Given the description of an element on the screen output the (x, y) to click on. 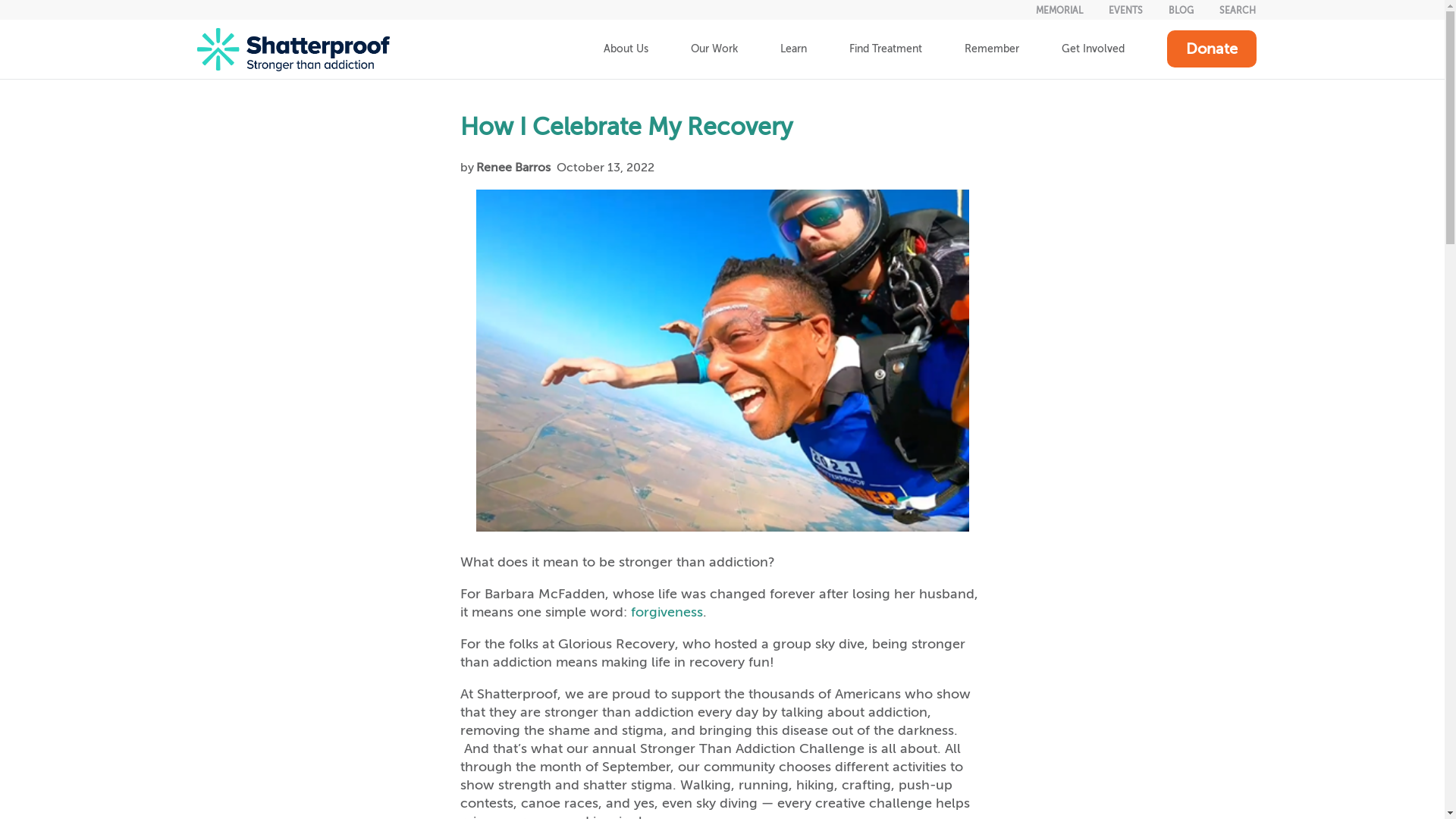
Home (292, 48)
Remember (992, 49)
EVENTS (1125, 9)
Learn (792, 49)
SEARCH (1237, 9)
About Us (625, 49)
BLOG (1181, 9)
Our Work (713, 49)
Search (1237, 9)
Find Treatment (885, 49)
MEMORIAL (1059, 9)
Donate to Shatterproof (1210, 48)
